Given the description of an element on the screen output the (x, y) to click on. 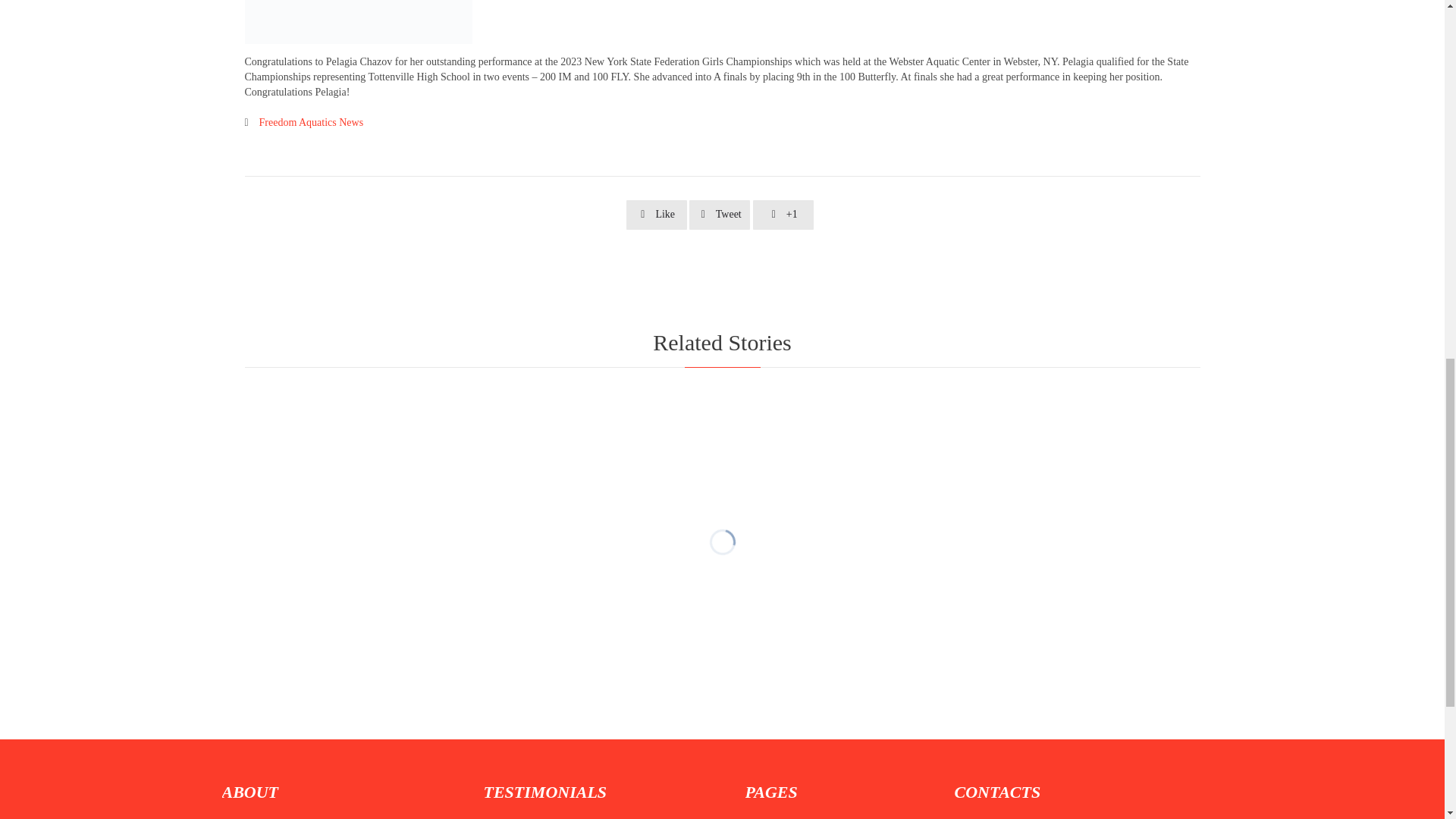
Share on Facebook (656, 214)
Share on Google Plus (782, 214)
Share on Twitter (718, 214)
